Given the description of an element on the screen output the (x, y) to click on. 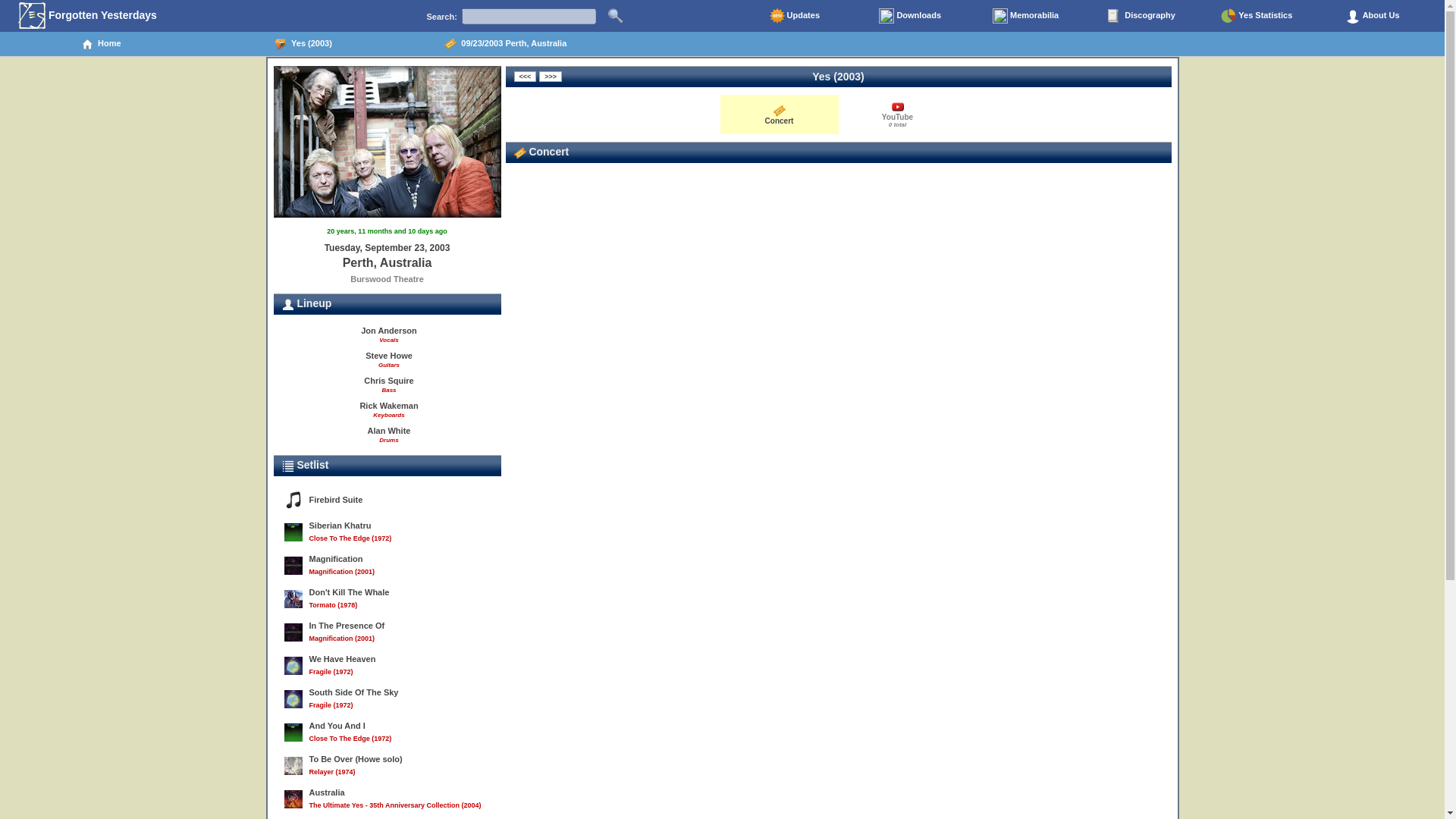
Quick Search (615, 15)
Firebird Suite (386, 499)
 Yes Statistics (1256, 15)
lineup (288, 304)
 Memorabilia (1025, 15)
setlist (288, 466)
Concert (778, 113)
 About Us (896, 114)
 Downloads (1371, 15)
